Given the description of an element on the screen output the (x, y) to click on. 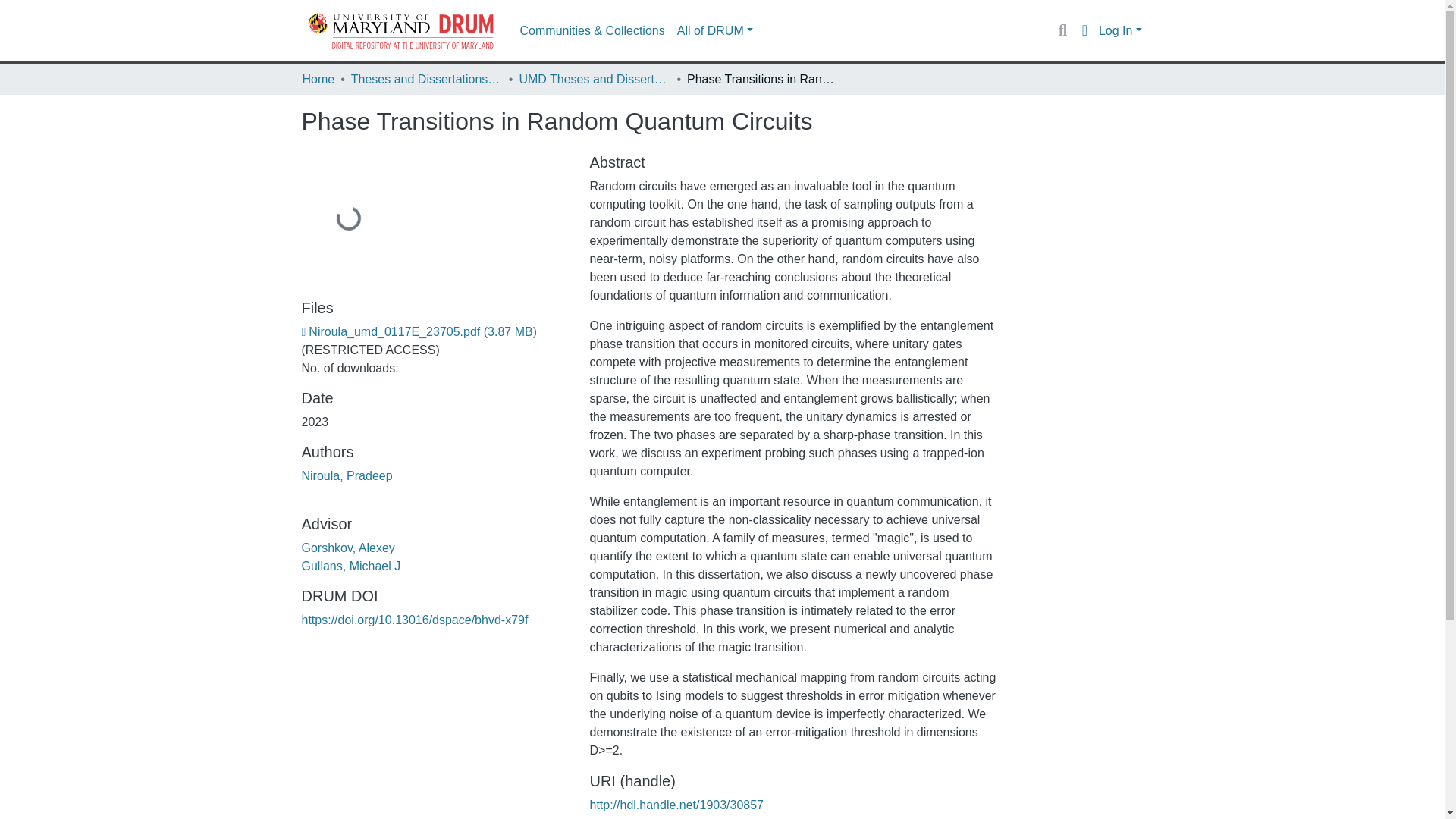
All of DRUM (714, 30)
Gorshkov, Alexey (347, 547)
Gullans, Michael J (351, 565)
Home (317, 79)
Theses and Dissertations from UMD (426, 79)
Log In (1119, 30)
UMD Theses and Dissertations (593, 79)
Language switch (1084, 30)
Search (1061, 30)
Niroula, Pradeep (347, 475)
